Given the description of an element on the screen output the (x, y) to click on. 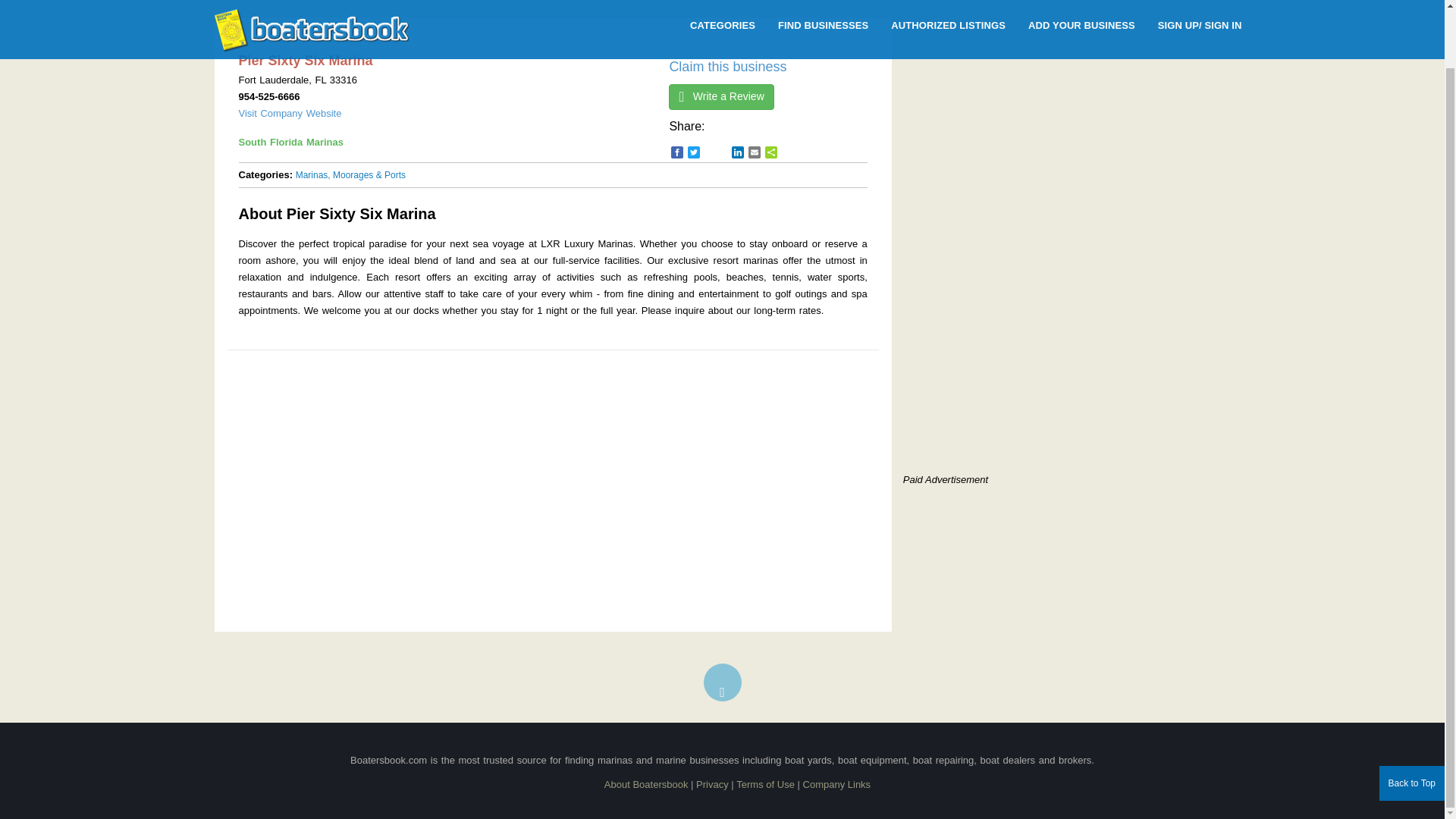
   Write a Review (720, 96)
954-525-6666 (268, 96)
Company Links (836, 784)
Terms of Use (765, 784)
Visit Company Website (289, 112)
About Boatersbook (646, 784)
Privacy (712, 784)
Claim this business (727, 66)
Advertisement (1029, 359)
